Given the description of an element on the screen output the (x, y) to click on. 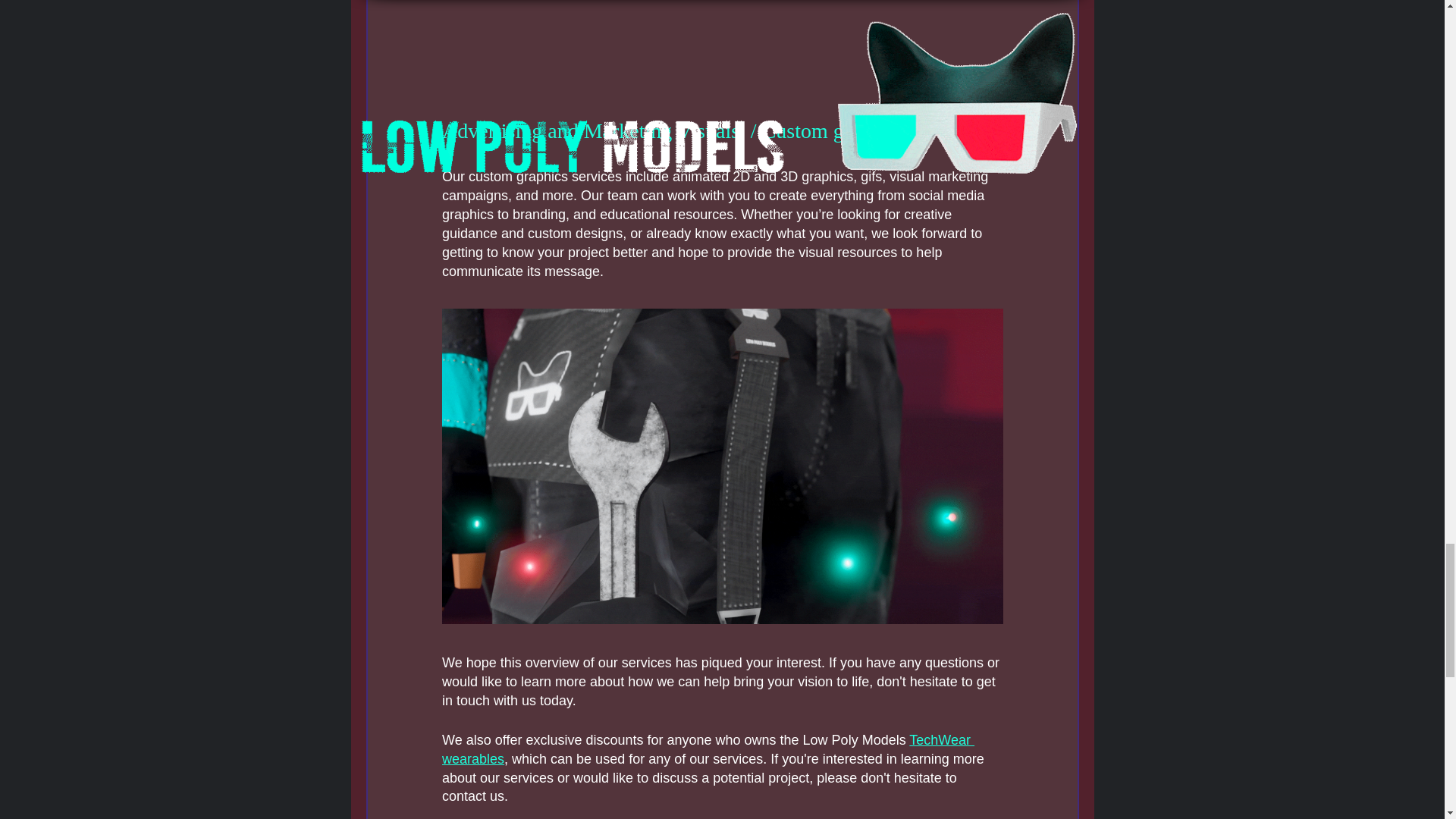
TechWear wearables (707, 749)
